Given the description of an element on the screen output the (x, y) to click on. 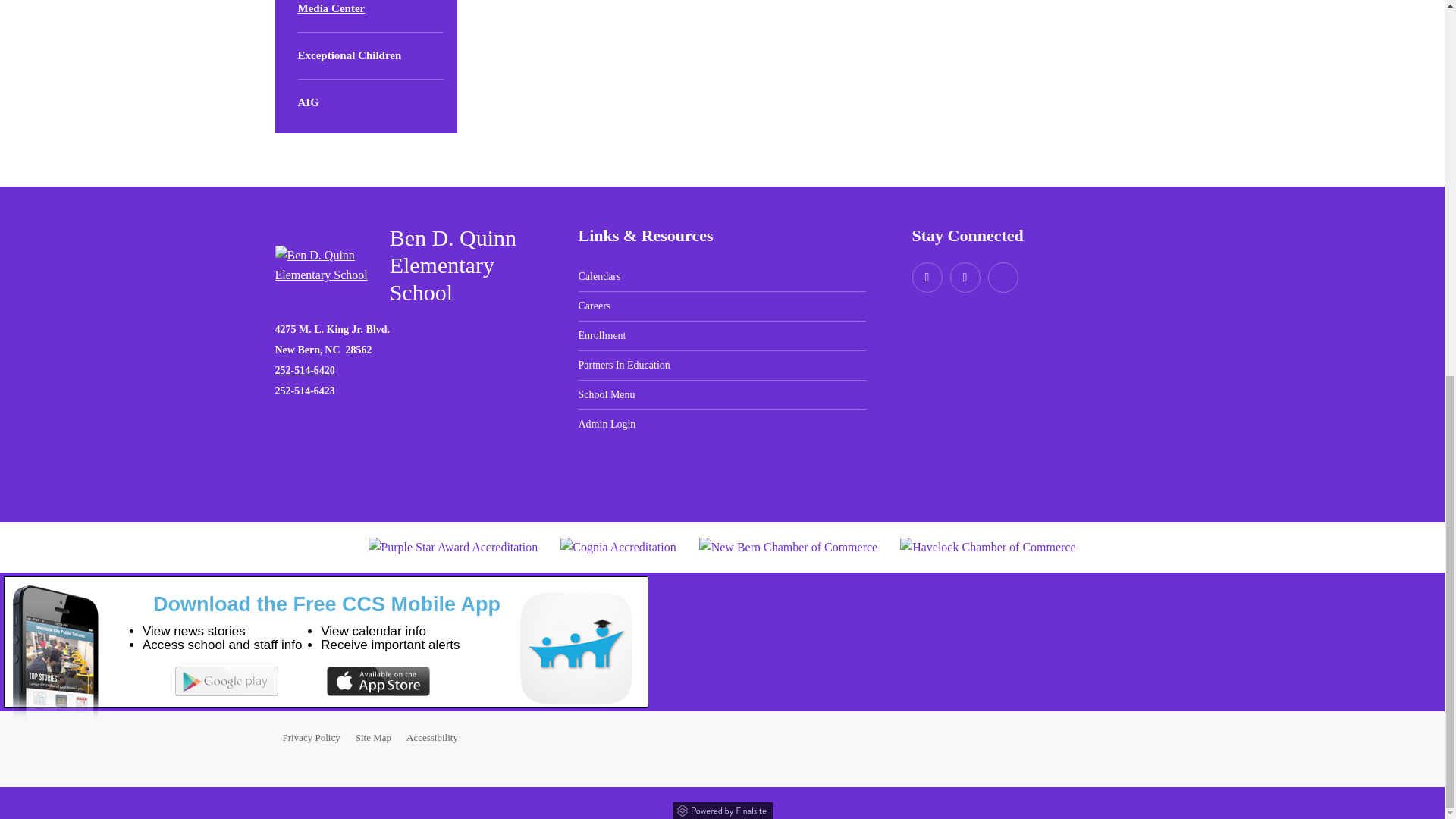
Download from the App Store (377, 681)
Powered by Finalsite opens in a new window (721, 808)
Download from Google Play (226, 681)
